Given the description of an element on the screen output the (x, y) to click on. 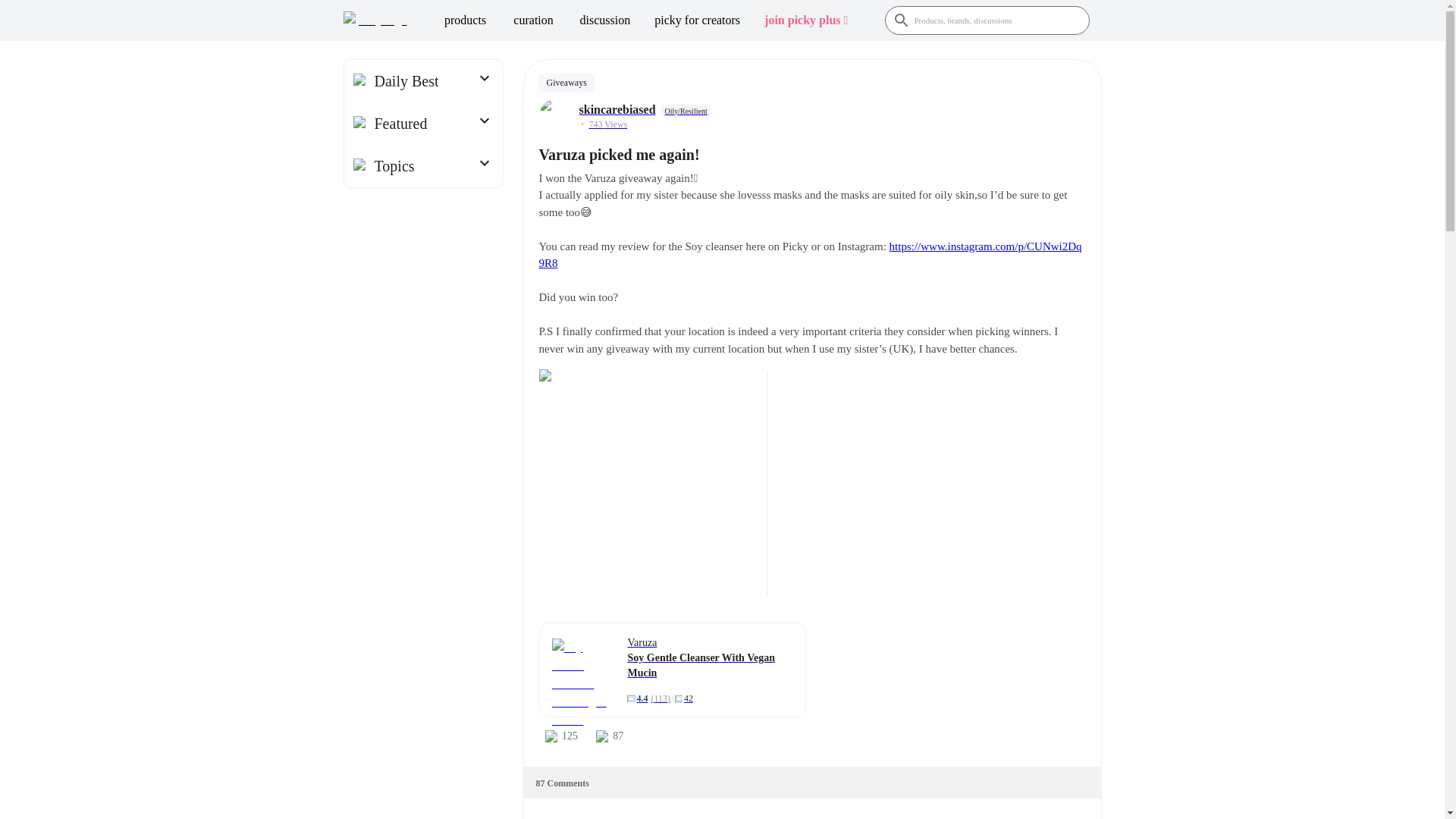
discussion (605, 20)
curation (533, 20)
picky for creators (697, 20)
products (464, 20)
